Given the description of an element on the screen output the (x, y) to click on. 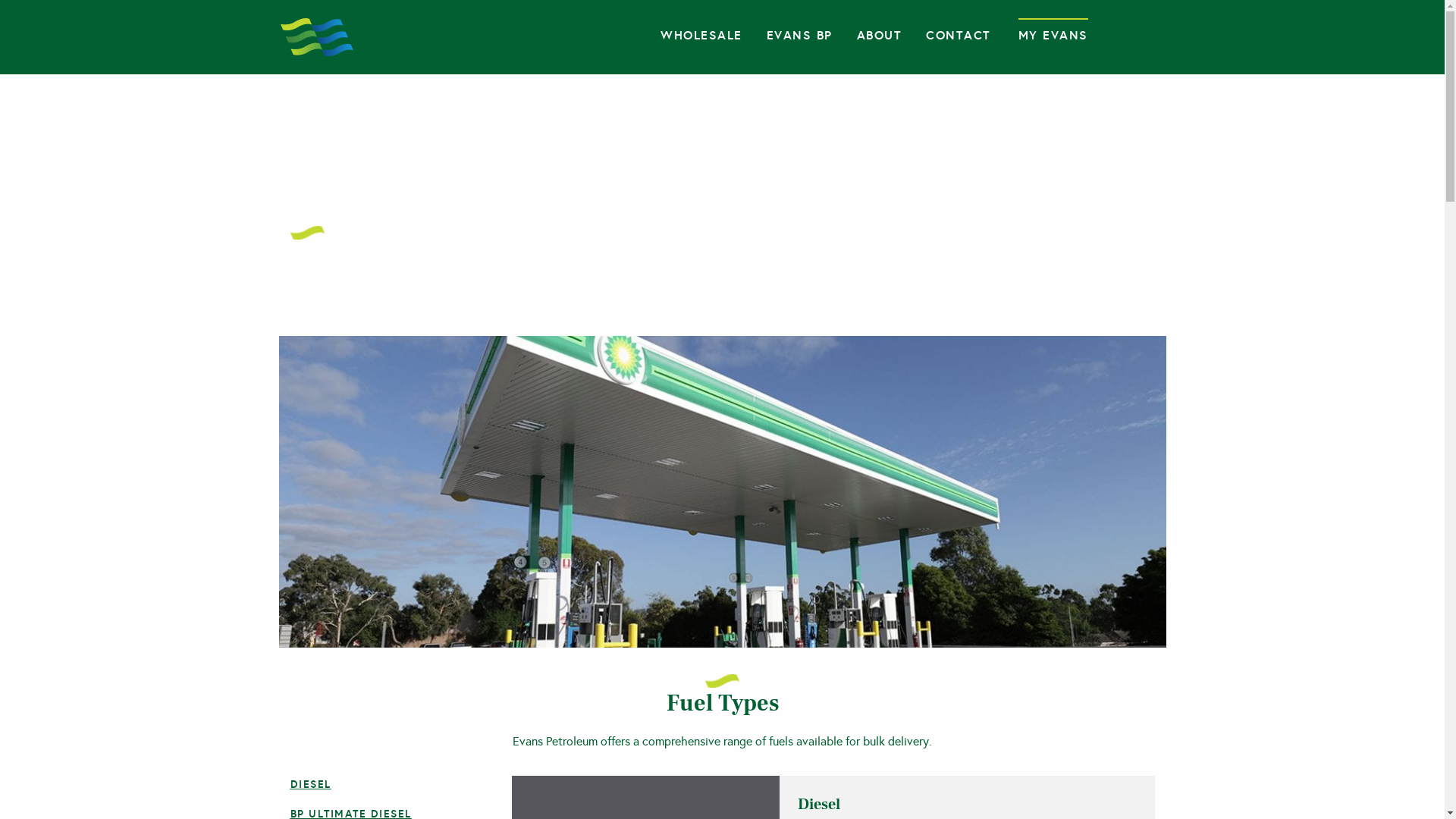
ABOUT Element type: text (879, 35)
EVANS BP Element type: text (798, 35)
DIESEL Element type: text (309, 783)
MY EVANS Element type: text (1052, 35)
WHOLESALE Element type: text (701, 35)
CONTACT Element type: text (958, 35)
